Given the description of an element on the screen output the (x, y) to click on. 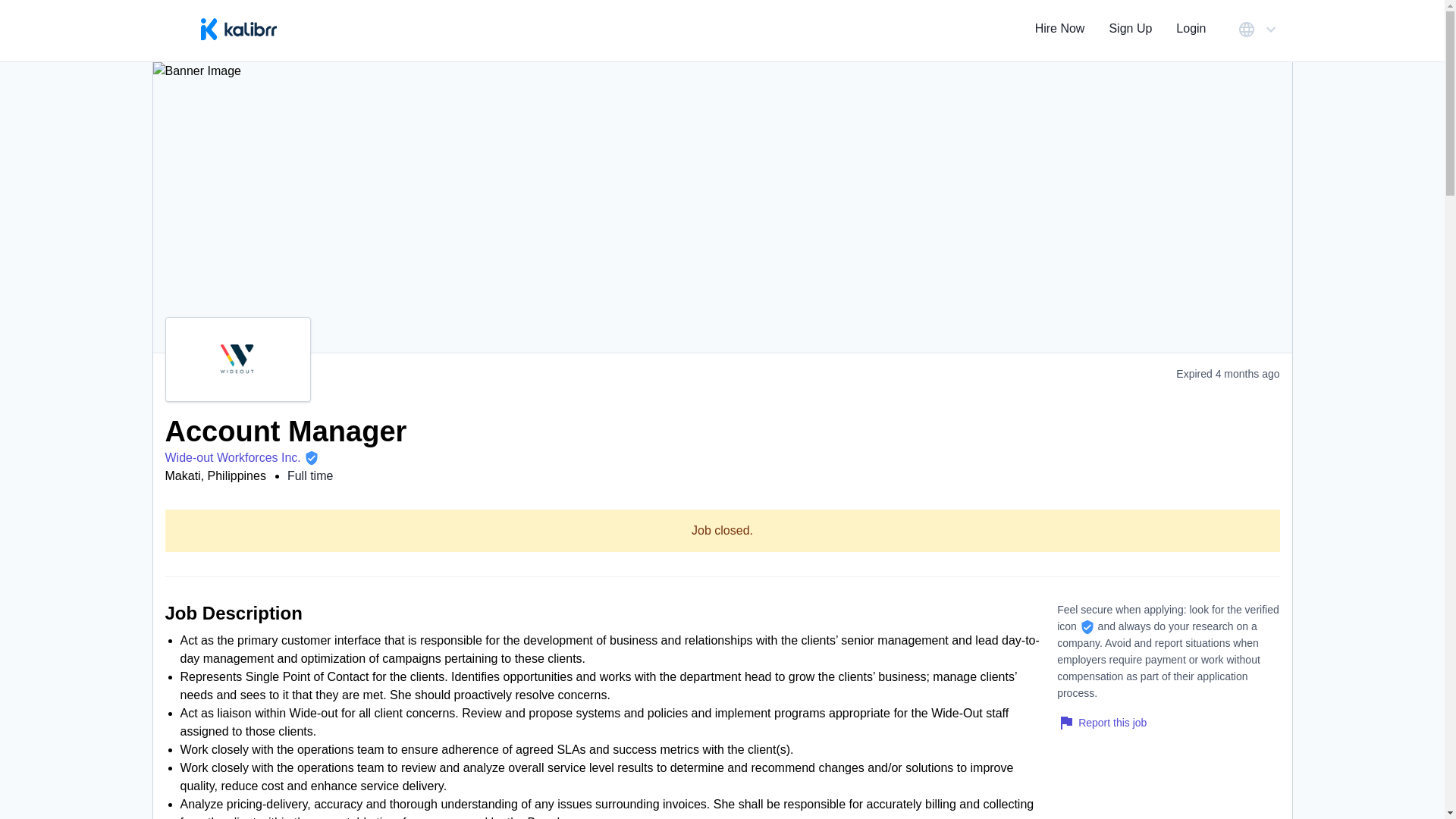
Full time (309, 475)
Login (1190, 30)
Report this job (1102, 722)
Hire Now (1060, 30)
Sign Up (1129, 30)
Wide-out Workforces Inc. (233, 457)
